Given the description of an element on the screen output the (x, y) to click on. 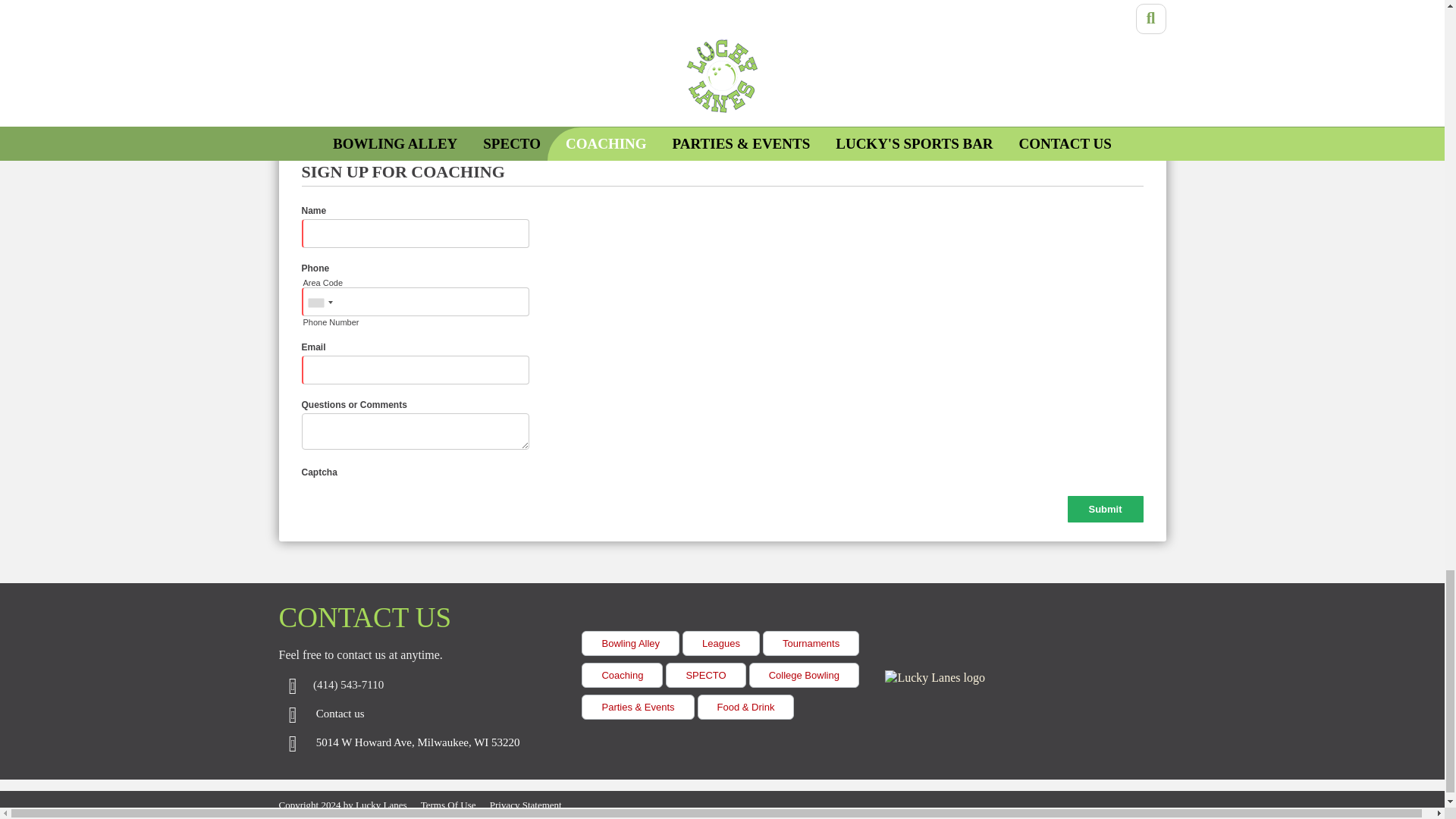
Contact us (340, 714)
Leagues (721, 643)
Submit (1104, 509)
Tournaments (810, 643)
5014 W Howard Ave, Milwaukee, WI 53220 (417, 743)
Submit (1104, 509)
Bowling Alley (629, 643)
